Given the description of an element on the screen output the (x, y) to click on. 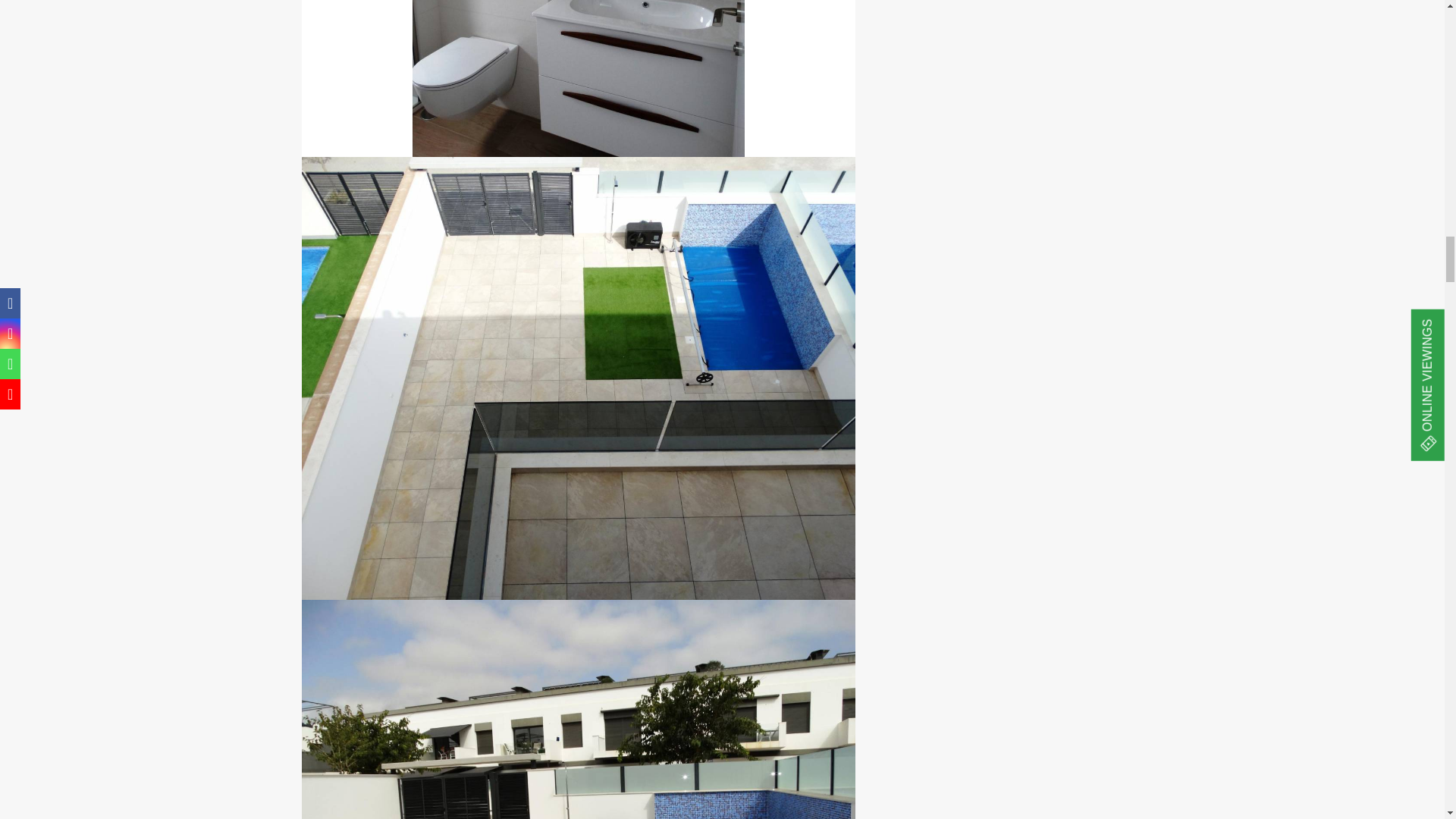
New Build - Villa - San Javier - Santiago de la Ribera (578, 709)
New Build - Villa - San Javier - Santiago de la Ribera (578, 78)
